Given the description of an element on the screen output the (x, y) to click on. 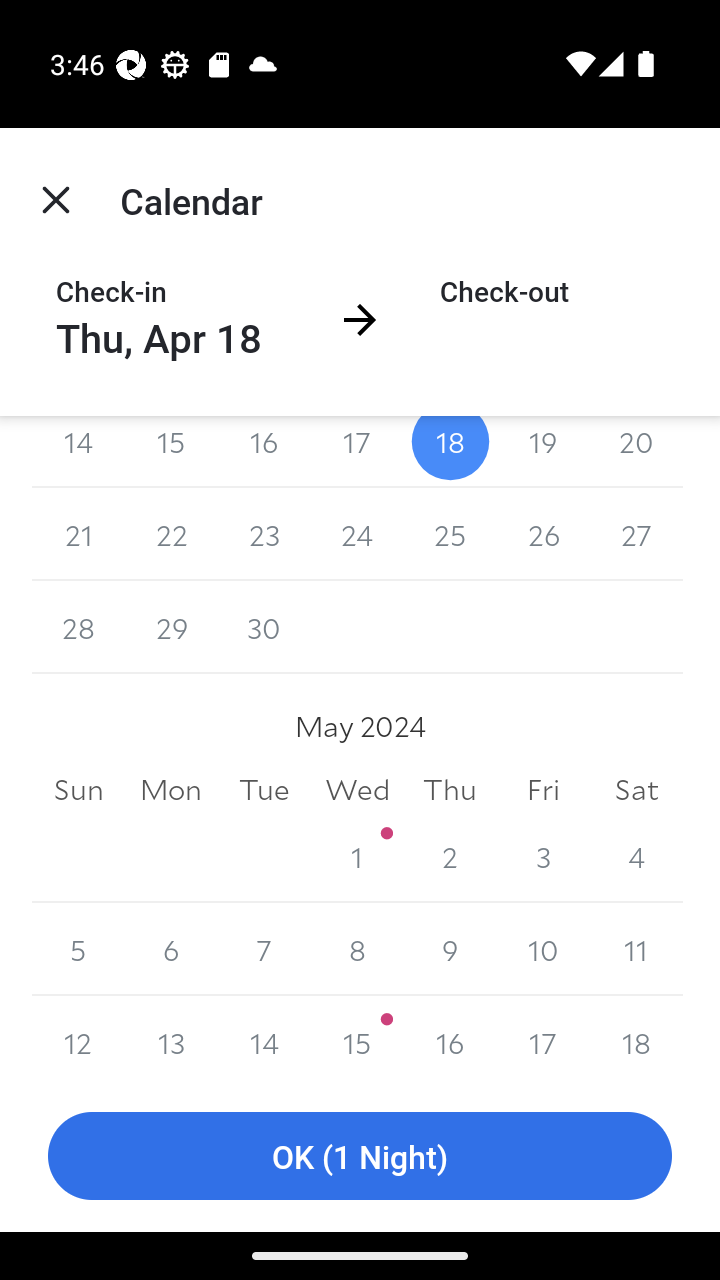
14 14 April 2024 (78, 451)
15 15 April 2024 (171, 451)
16 16 April 2024 (264, 451)
17 17 April 2024 (357, 451)
18 18 April 2024 (449, 451)
19 19 April 2024 (542, 451)
20 20 April 2024 (636, 451)
21 21 April 2024 (78, 534)
22 22 April 2024 (171, 534)
23 23 April 2024 (264, 534)
24 24 April 2024 (357, 534)
25 25 April 2024 (449, 534)
26 26 April 2024 (542, 534)
27 27 April 2024 (636, 534)
28 28 April 2024 (78, 627)
29 29 April 2024 (171, 627)
30 30 April 2024 (264, 627)
Sun (78, 789)
Mon (171, 789)
Tue (264, 789)
Wed (357, 789)
Thu (449, 789)
Fri (542, 789)
Sat (636, 789)
1 1 May 2024 (357, 856)
2 2 May 2024 (449, 856)
3 3 May 2024 (542, 856)
4 4 May 2024 (636, 856)
5 5 May 2024 (78, 948)
6 6 May 2024 (171, 948)
7 7 May 2024 (264, 948)
8 8 May 2024 (357, 948)
9 9 May 2024 (449, 948)
10 10 May 2024 (542, 948)
11 11 May 2024 (636, 948)
12 12 May 2024 (78, 1037)
13 13 May 2024 (171, 1037)
14 14 May 2024 (264, 1037)
15 15 May 2024 (357, 1037)
16 16 May 2024 (449, 1037)
17 17 May 2024 (542, 1037)
18 18 May 2024 (636, 1037)
OK (1 Night) (359, 1156)
